Given the description of an element on the screen output the (x, y) to click on. 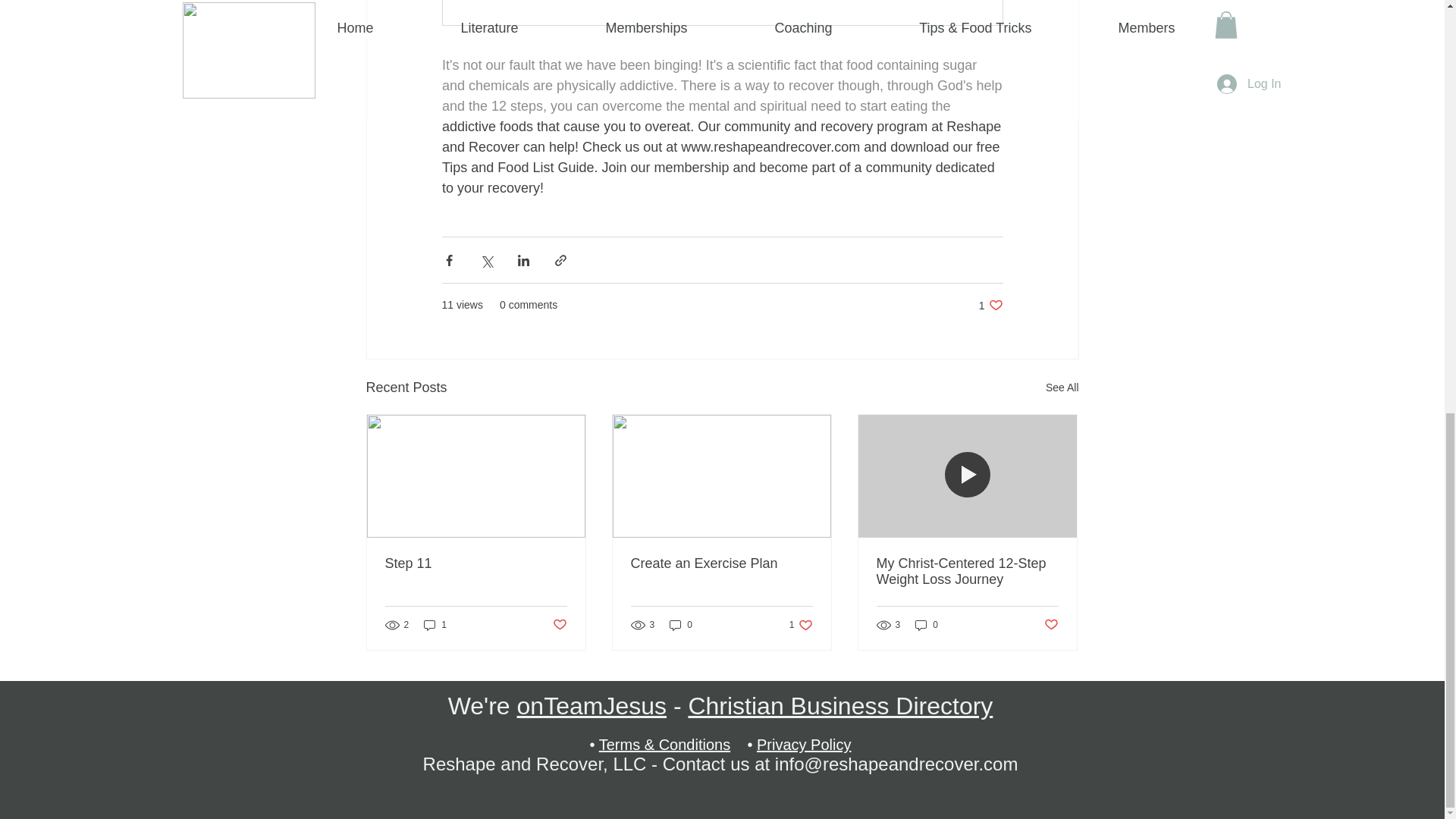
Privacy Policy (990, 305)
Post not marked as liked (803, 744)
Step 11 (1050, 625)
Post not marked as liked (476, 563)
0 (558, 625)
1 (926, 625)
Christian Business Directory (435, 625)
0 (839, 705)
onTeamJesus (681, 625)
